Given the description of an element on the screen output the (x, y) to click on. 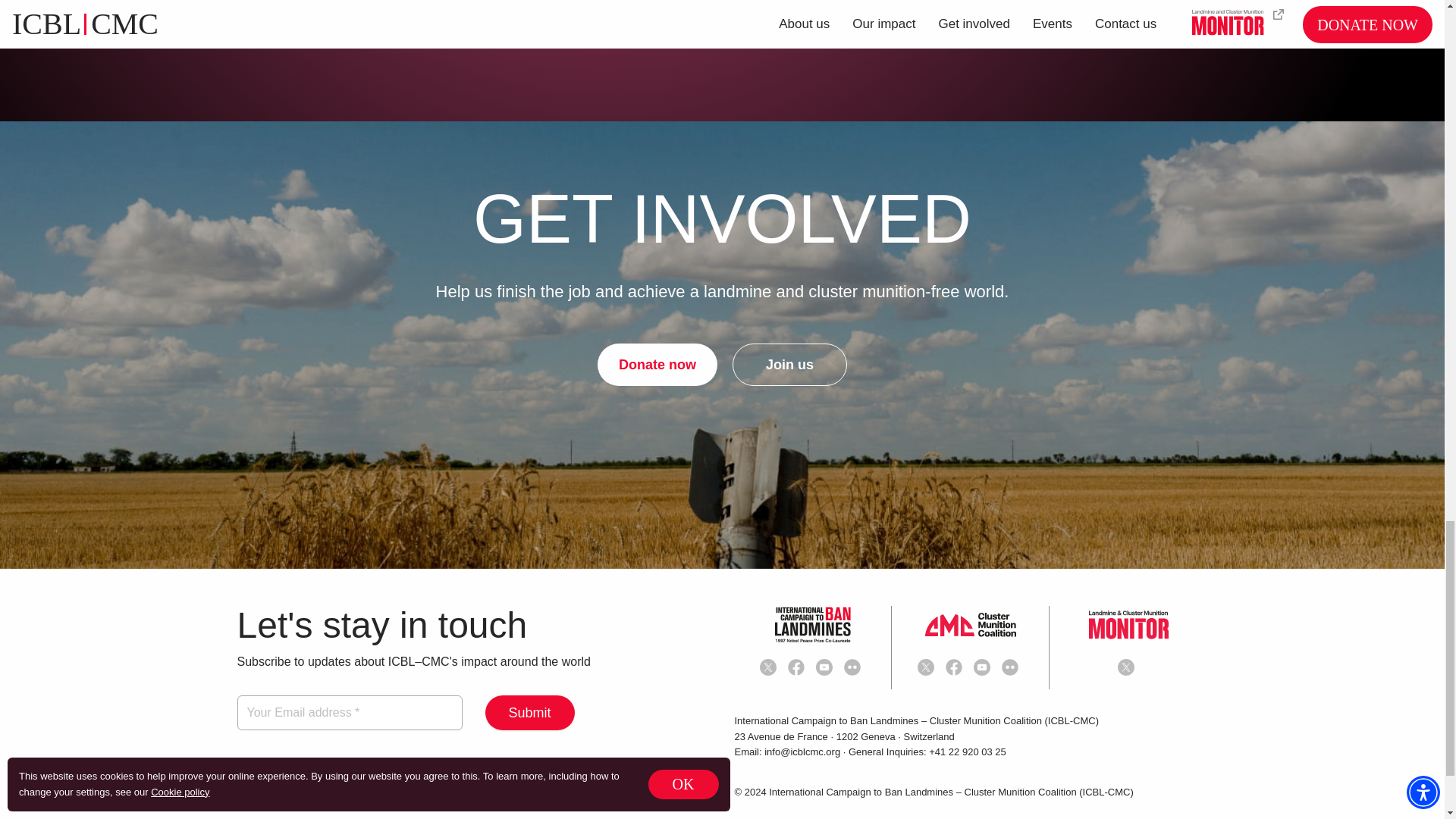
Flickr (1012, 667)
Youtube (984, 667)
Facebook (796, 667)
Flickr (855, 667)
Youtube (823, 667)
Submit (529, 712)
Twitter (928, 667)
Facebook (956, 667)
Youtube (826, 667)
Flickr (852, 667)
Join us (789, 364)
Twitter (770, 667)
Twitter (768, 667)
Donate now (656, 364)
Facebook (798, 667)
